Given the description of an element on the screen output the (x, y) to click on. 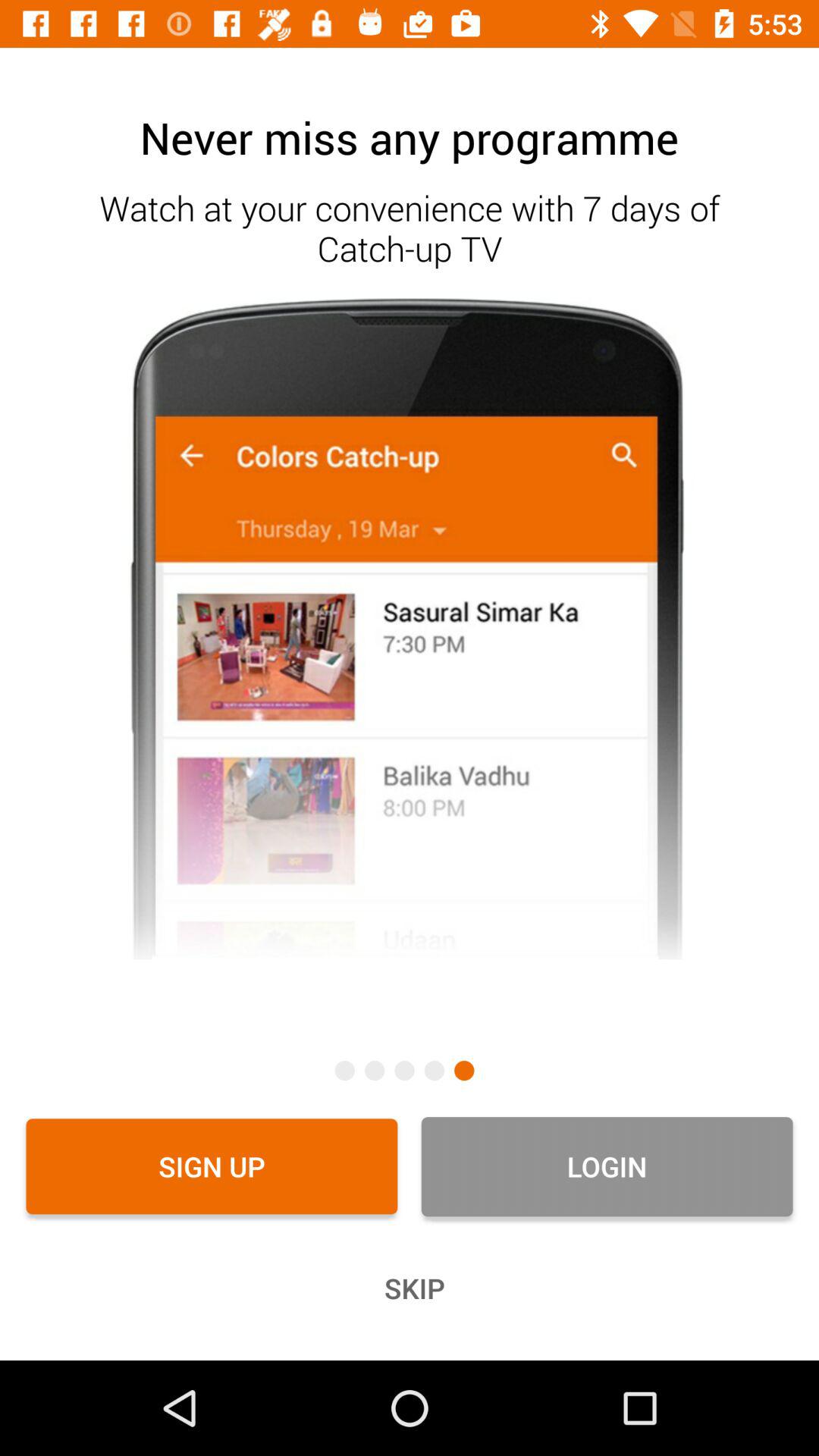
press the icon below the login item (409, 1288)
